Given the description of an element on the screen output the (x, y) to click on. 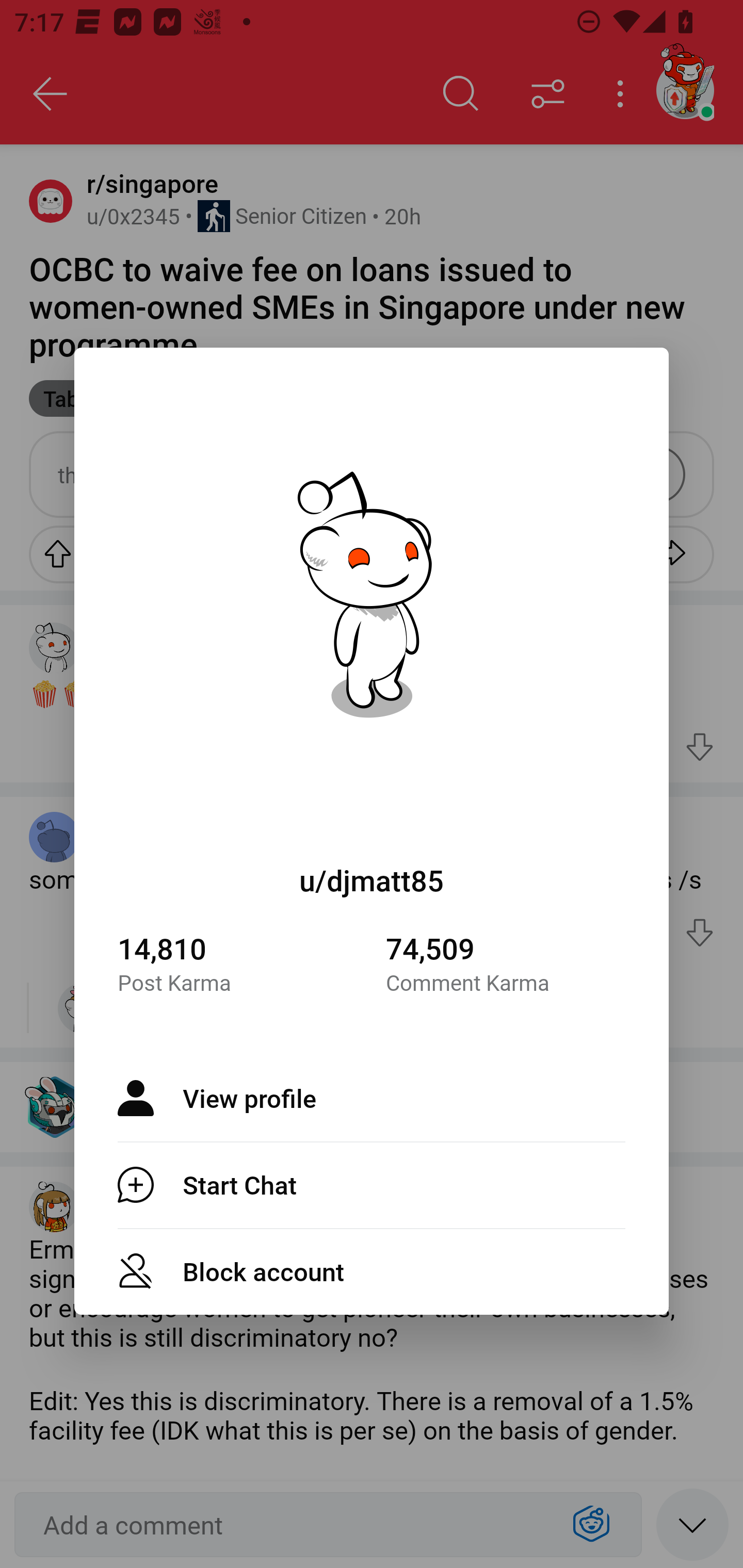
u/djmatt85 (371, 880)
View profile (371, 1098)
Start Chat (371, 1184)
Block account (371, 1270)
